Given the description of an element on the screen output the (x, y) to click on. 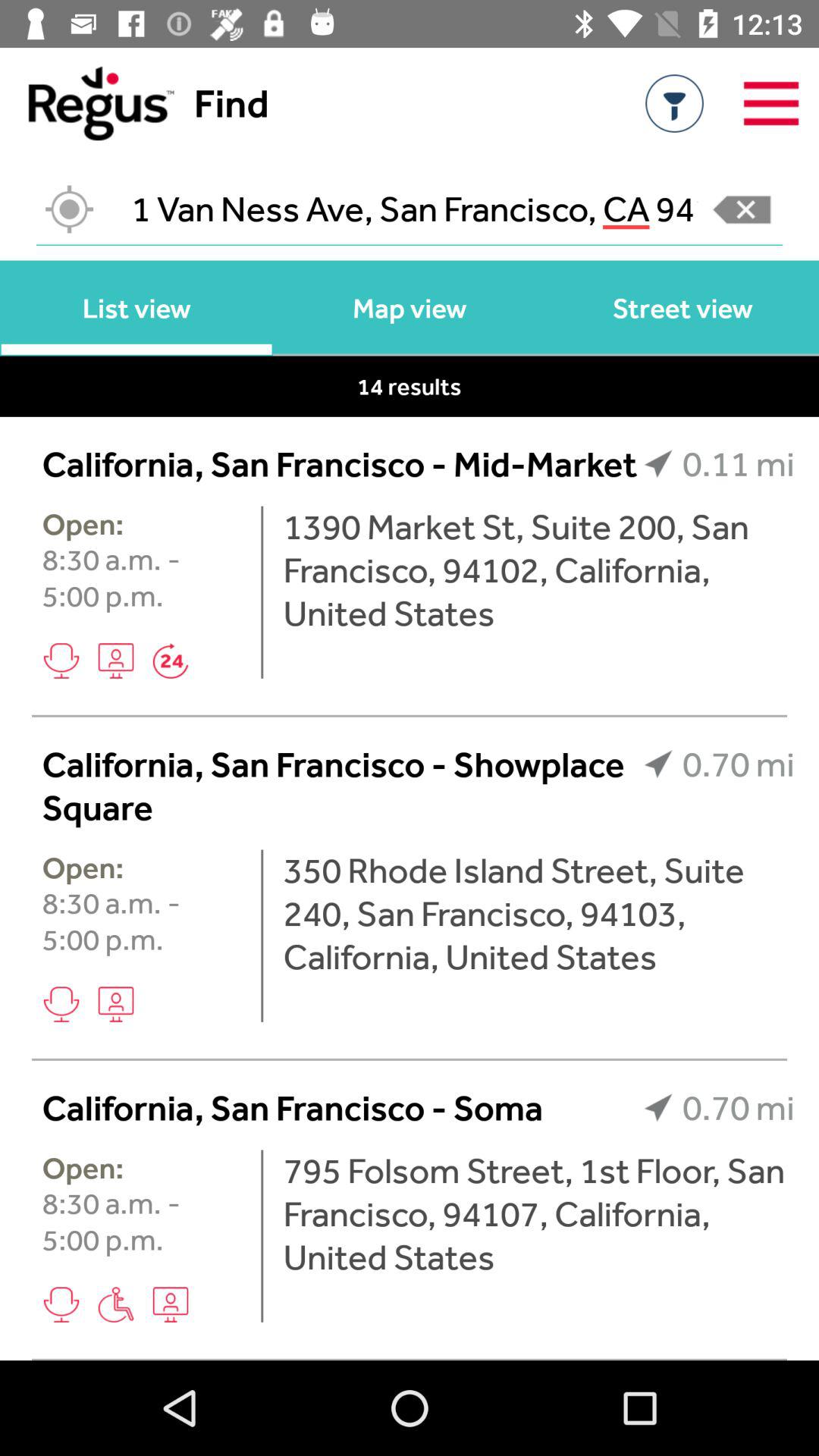
return to home page (87, 103)
